Given the description of an element on the screen output the (x, y) to click on. 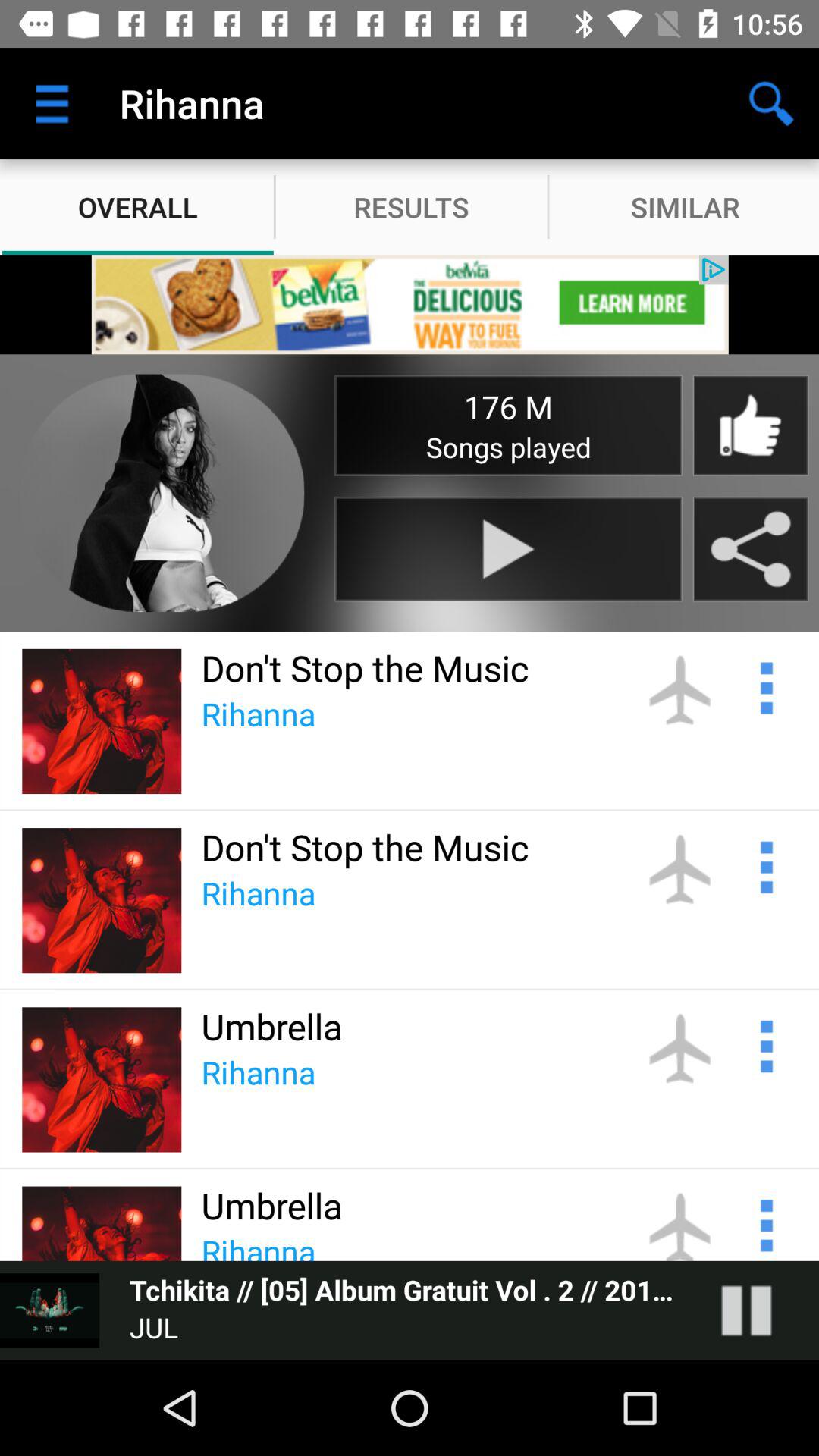
go to menu (764, 1044)
